Given the description of an element on the screen output the (x, y) to click on. 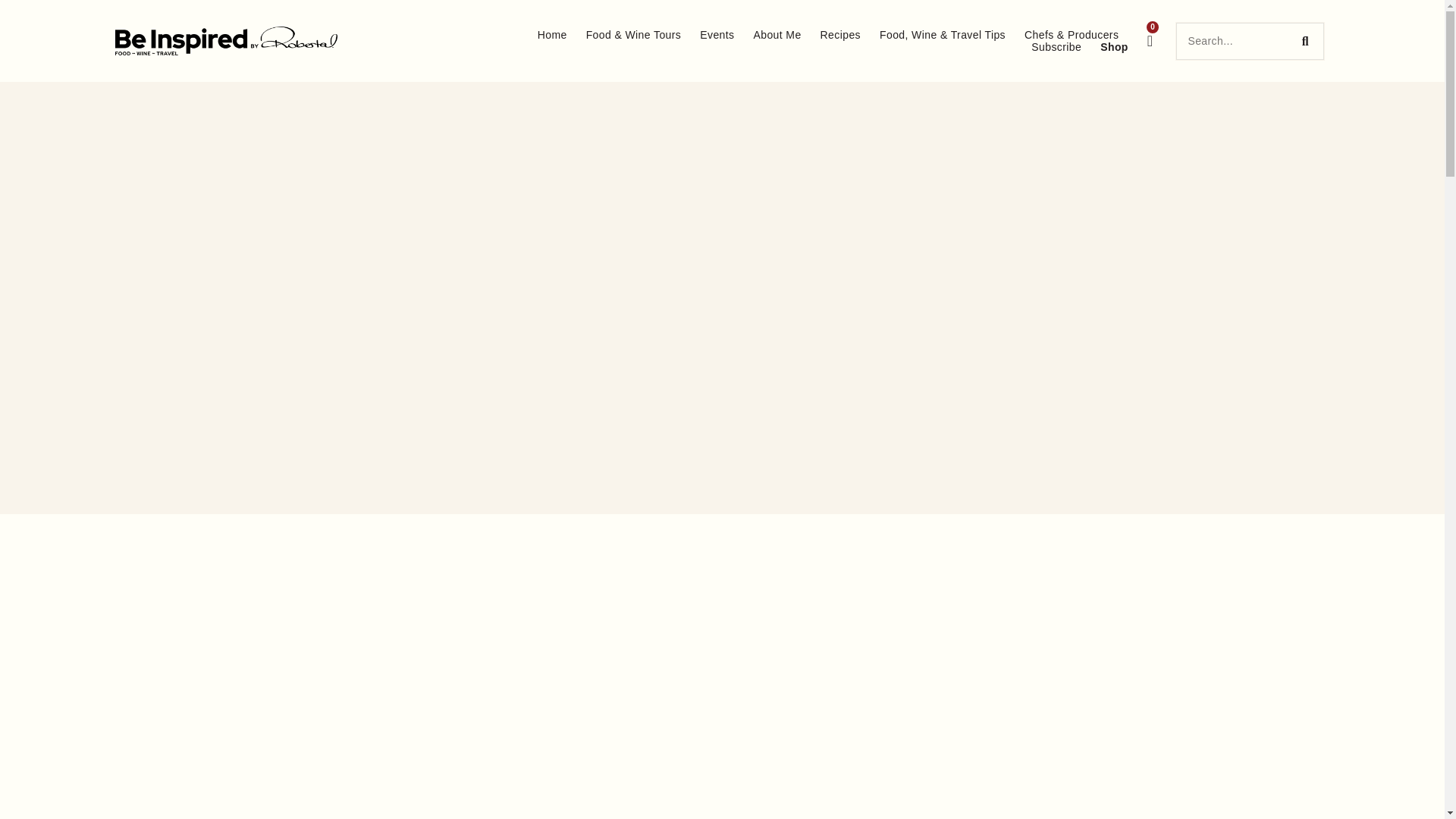
Home (552, 34)
Events (716, 34)
Recipes (840, 34)
Subscribe (1055, 46)
About Me (776, 34)
Shop (1114, 46)
